Given the description of an element on the screen output the (x, y) to click on. 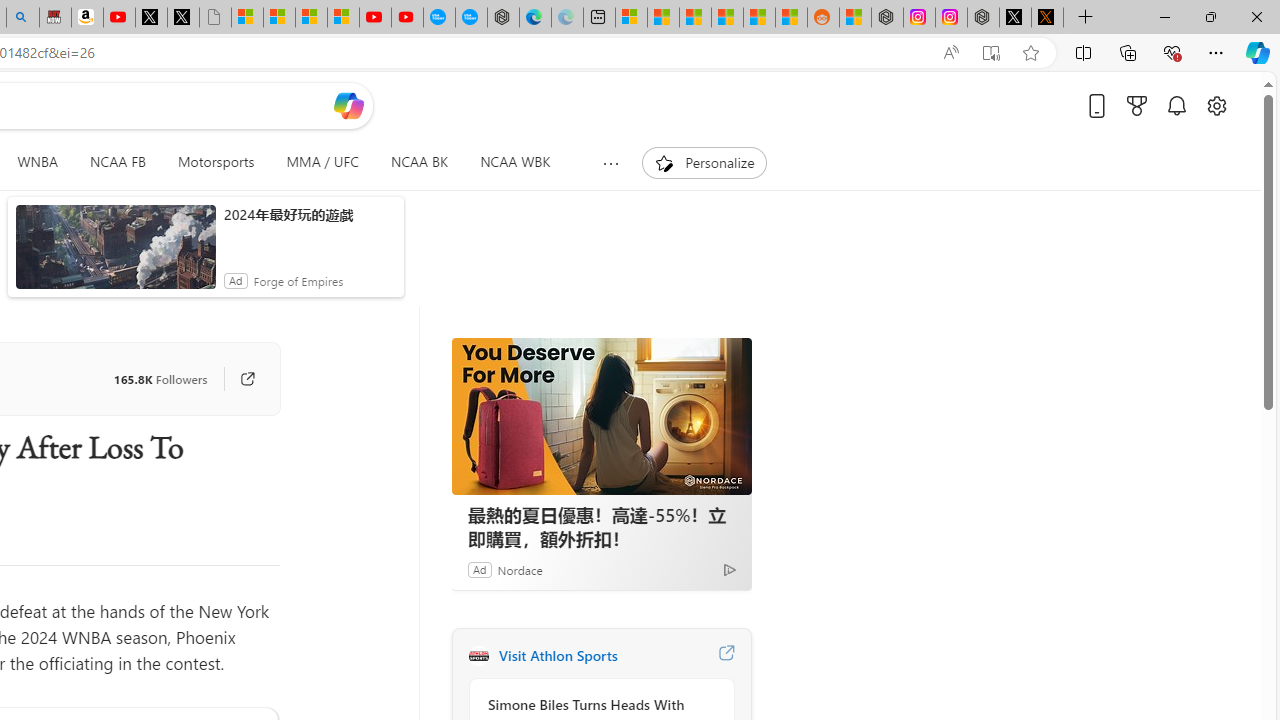
Nordace (@NordaceOfficial) / X (1014, 17)
New Tab (1085, 17)
Untitled (215, 17)
Microsoft account | Microsoft Account Privacy Settings (630, 17)
To get missing image descriptions, open the context menu. (664, 162)
NCAA WBK (515, 162)
Minimize (1164, 16)
Split screen (1083, 52)
YouTube Kids - An App Created for Kids to Explore Content (407, 17)
Nordace - Nordace has arrived Hong Kong (502, 17)
